Given the description of an element on the screen output the (x, y) to click on. 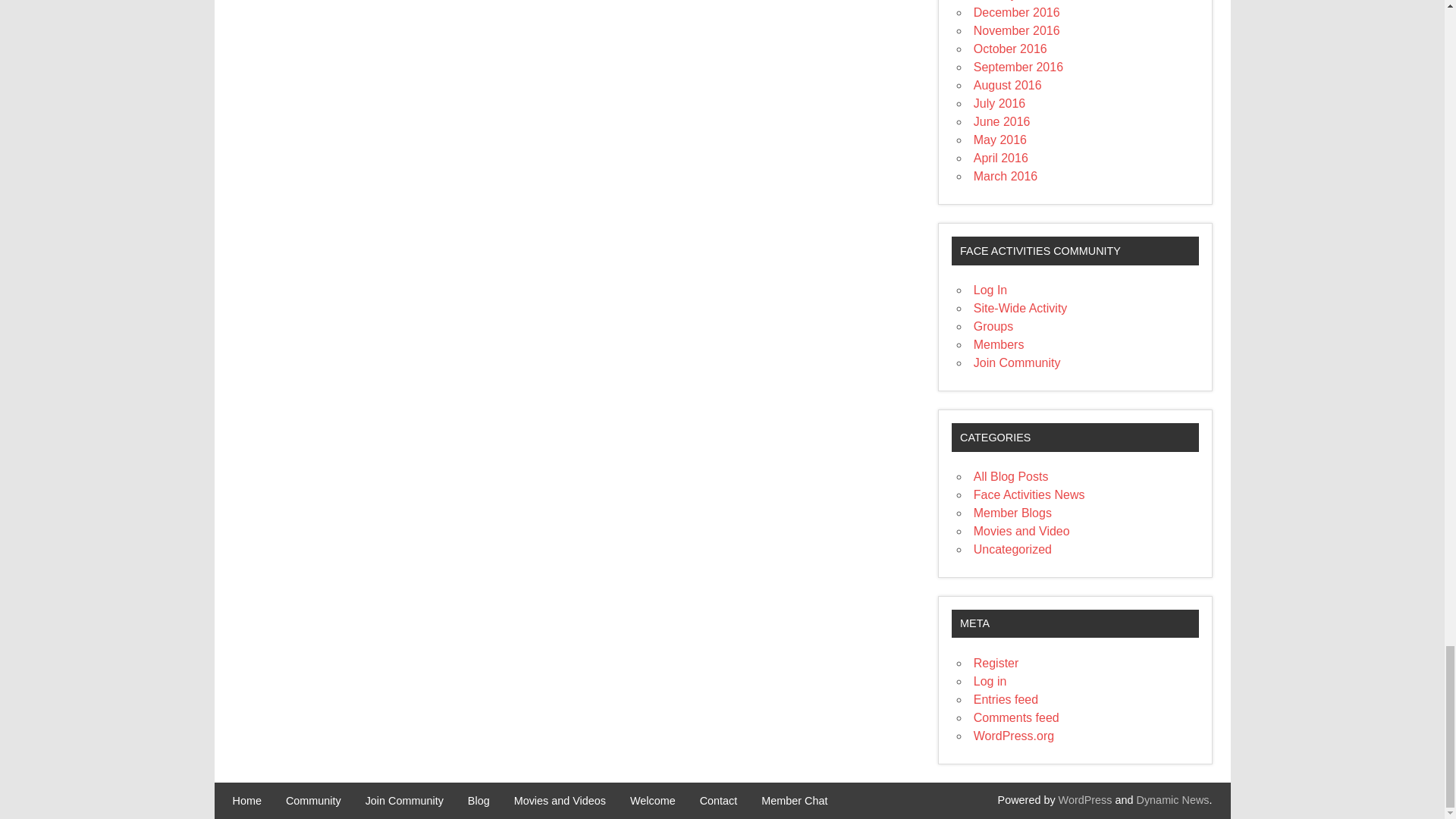
Dynamic News WordPress Theme (1173, 799)
WordPress (1085, 799)
